Given the description of an element on the screen output the (x, y) to click on. 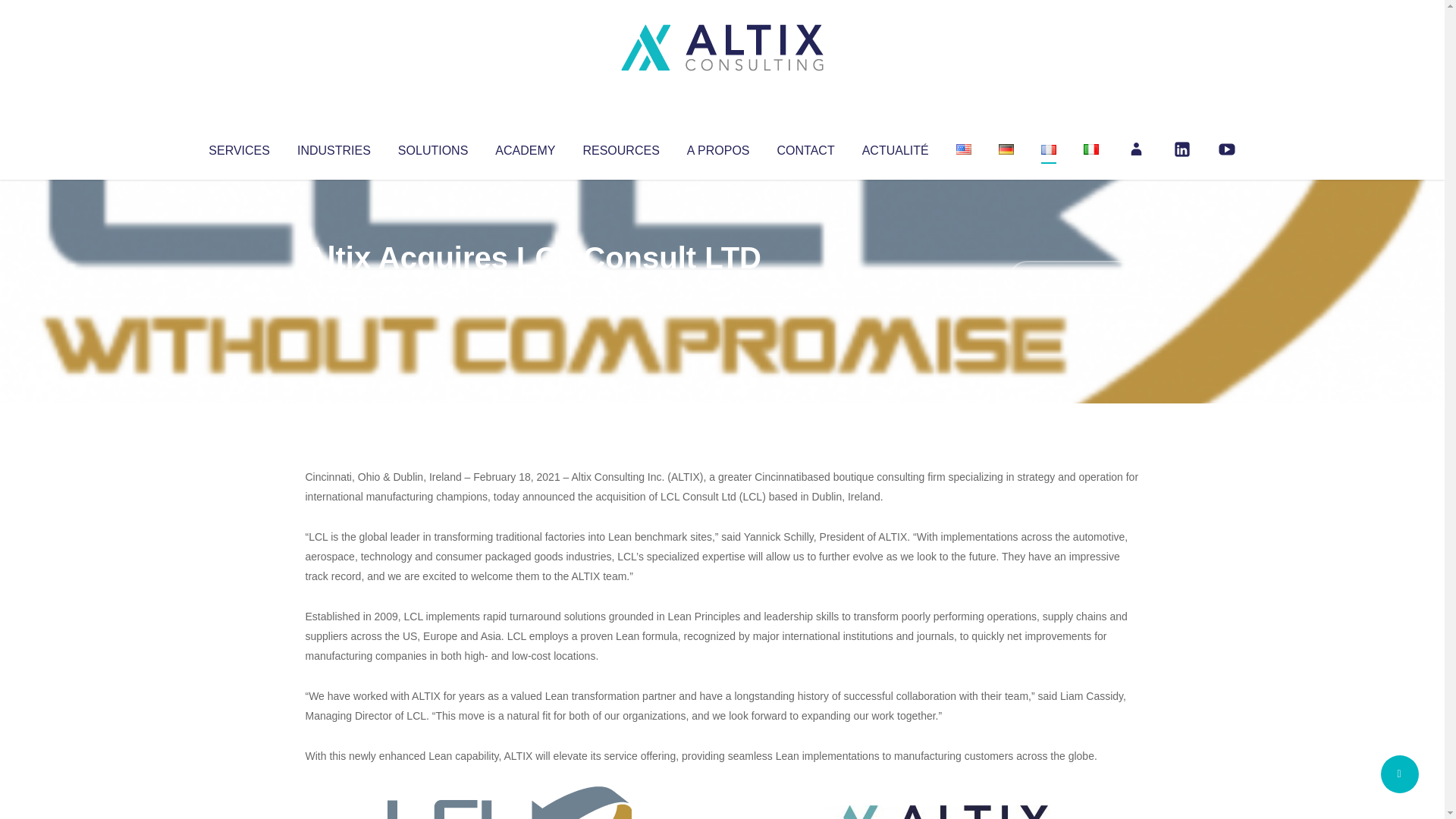
No Comments (1073, 278)
RESOURCES (620, 146)
INDUSTRIES (334, 146)
SOLUTIONS (432, 146)
A PROPOS (718, 146)
Articles par Altix (333, 287)
Uncategorized (530, 287)
ACADEMY (524, 146)
SERVICES (238, 146)
Altix (333, 287)
